Given the description of an element on the screen output the (x, y) to click on. 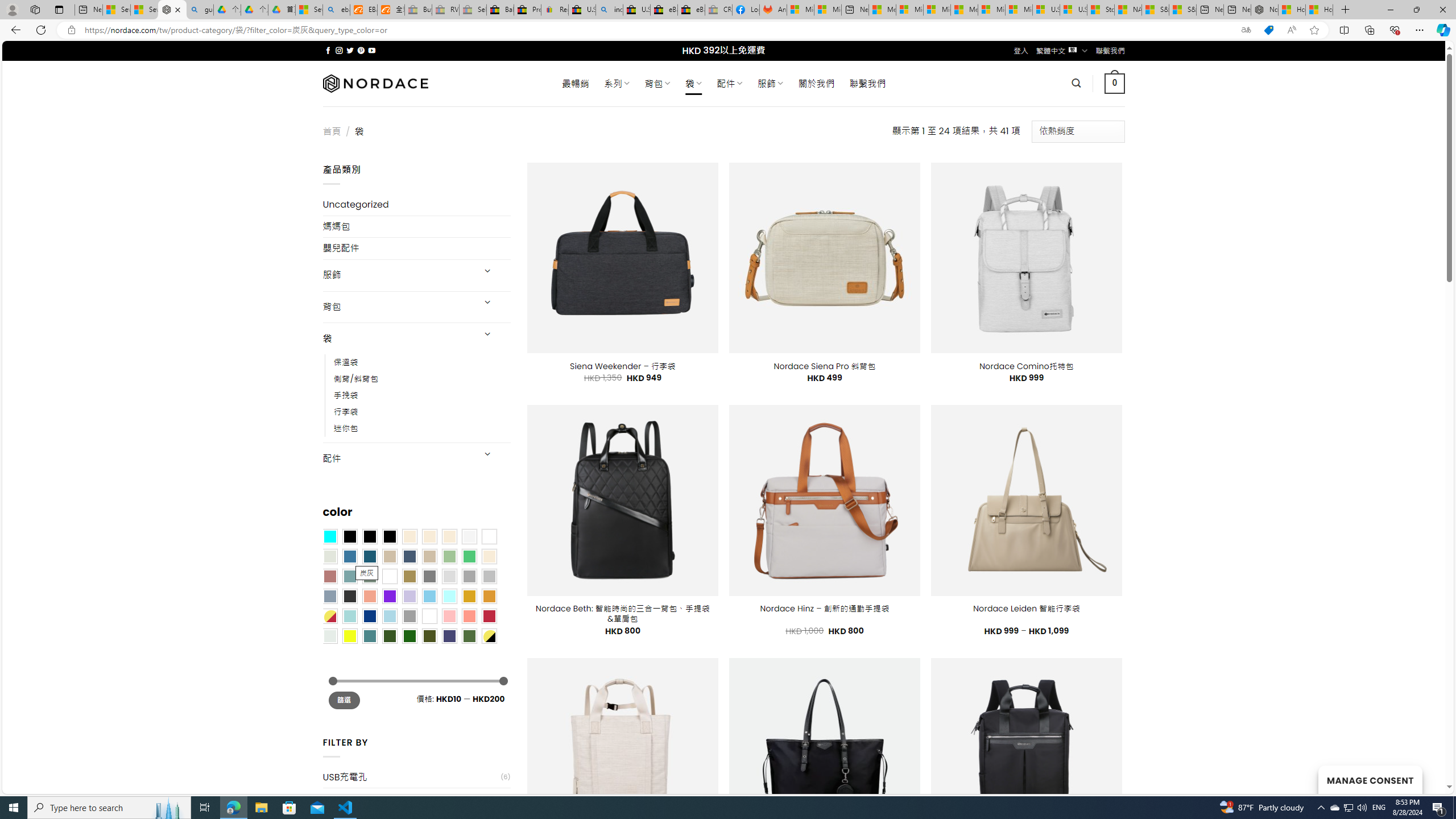
Register: Create a personal eBay account (554, 9)
 0  (1115, 83)
How to Use a Monitor With Your Closed Laptop (1319, 9)
Follow on Instagram (338, 50)
Log into Facebook (746, 9)
